Given the description of an element on the screen output the (x, y) to click on. 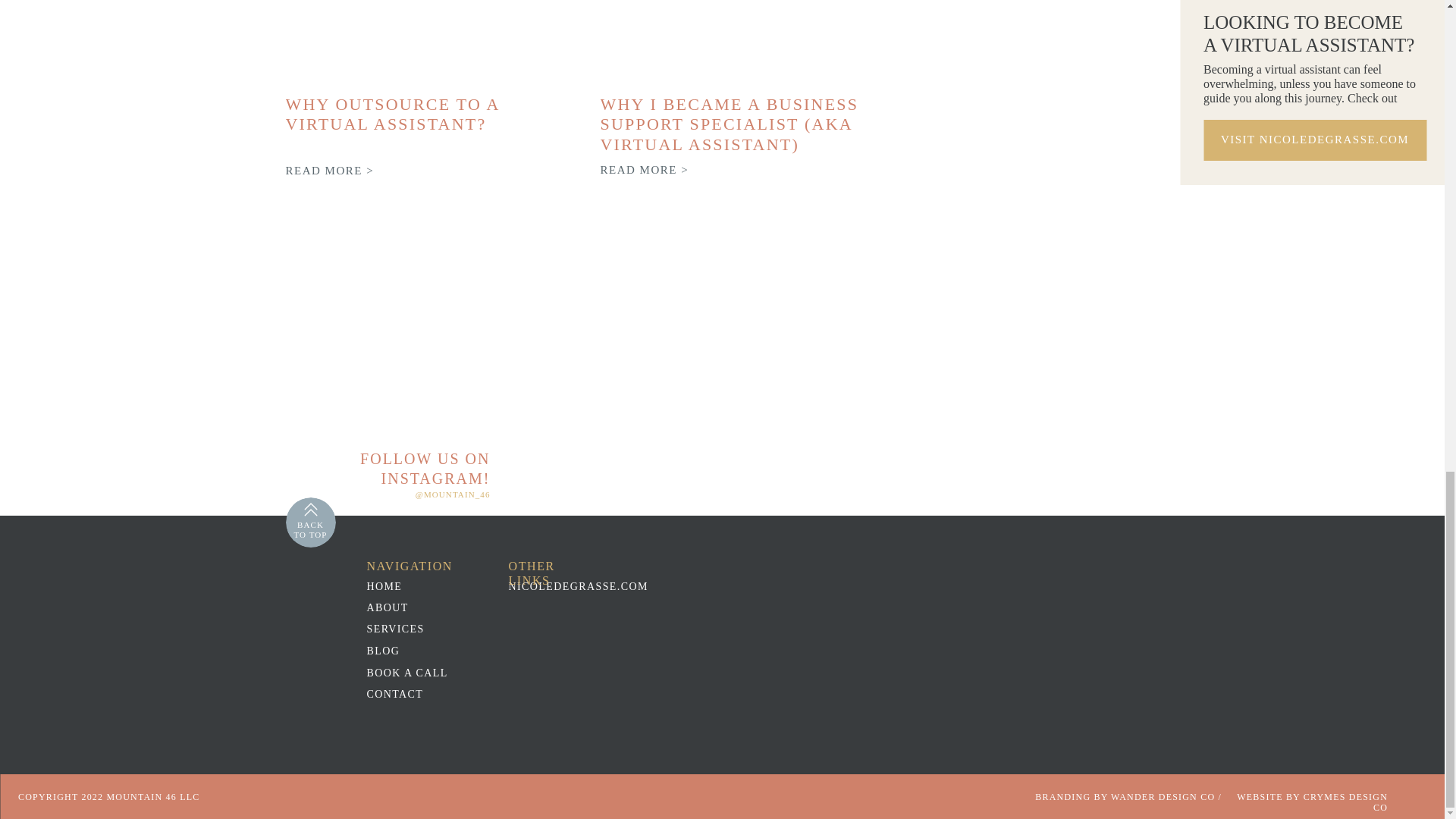
NICOLEDEGRASSE.COM (582, 589)
Why Outsource to a Virtual Assistant? (330, 171)
BOOK A CALL (413, 675)
CONTACT (413, 696)
WHY OUTSOURCE TO A VIRTUAL ASSISTANT? (392, 114)
VISIT NICOLEDEGRASSE.COM (1315, 140)
Why Outsource to a Virtual Assistant? (424, 42)
WEBSITE BY CRYMES DESIGN CO (1304, 798)
